Given the description of an element on the screen output the (x, y) to click on. 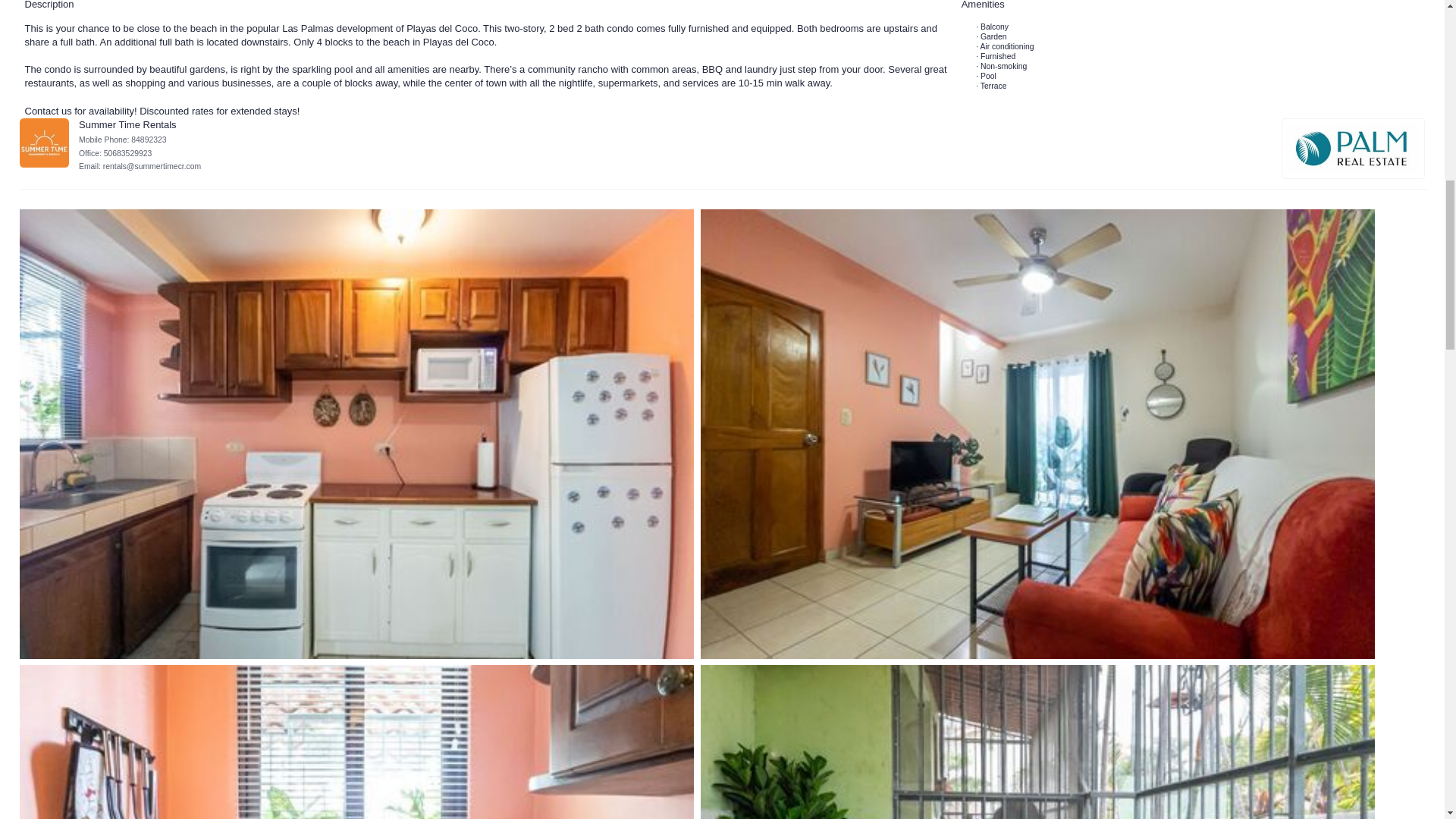
Summer Time Rentals (44, 142)
Palm Real Estate (1352, 147)
